Given the description of an element on the screen output the (x, y) to click on. 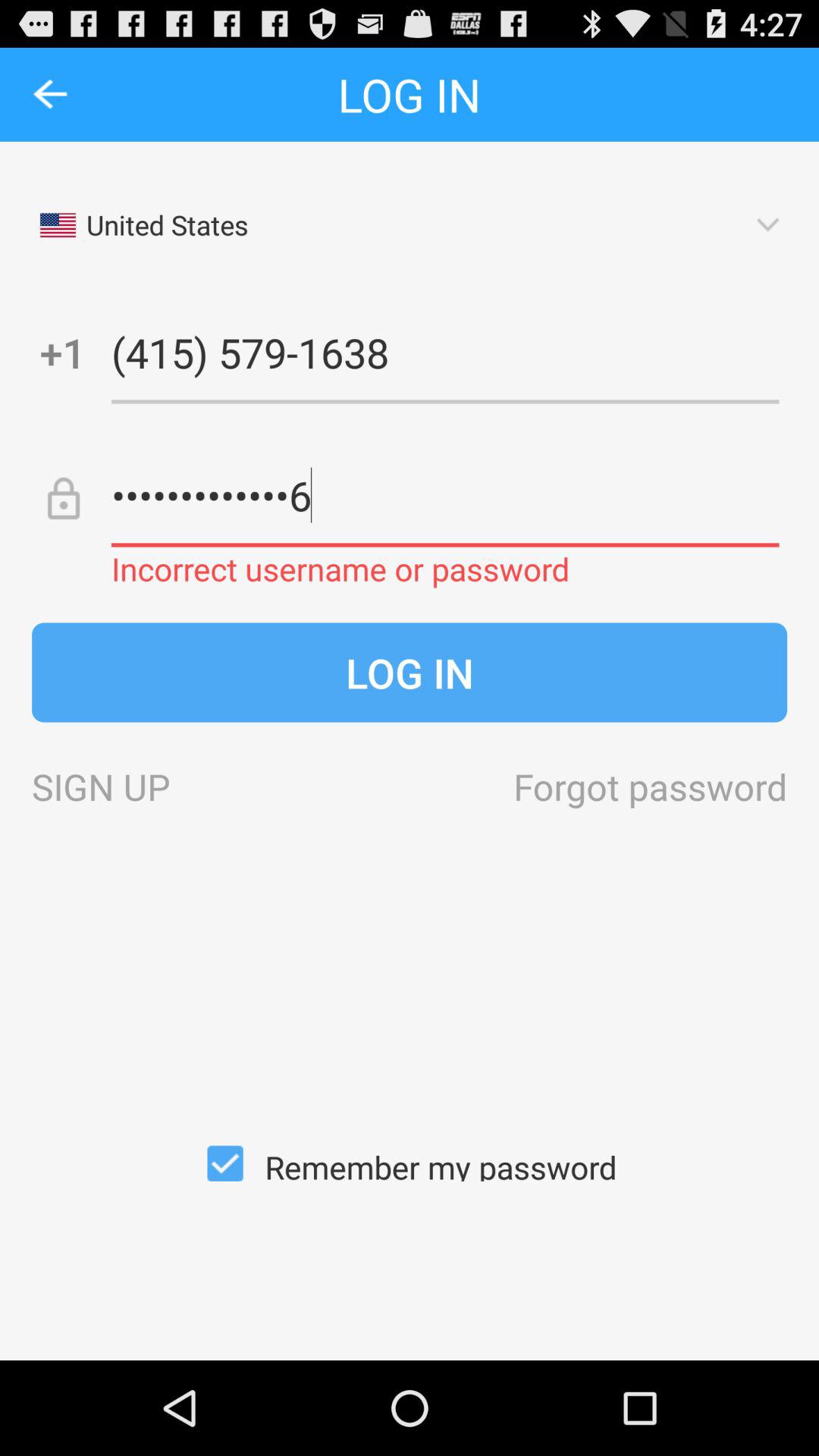
click on the password field (445, 494)
click on the first drop down of the page (409, 225)
select the text on the bottom line of the web page (409, 1162)
click on the text field under united states (445, 351)
click the button forgot password on the web page (650, 785)
